Given the description of an element on the screen output the (x, y) to click on. 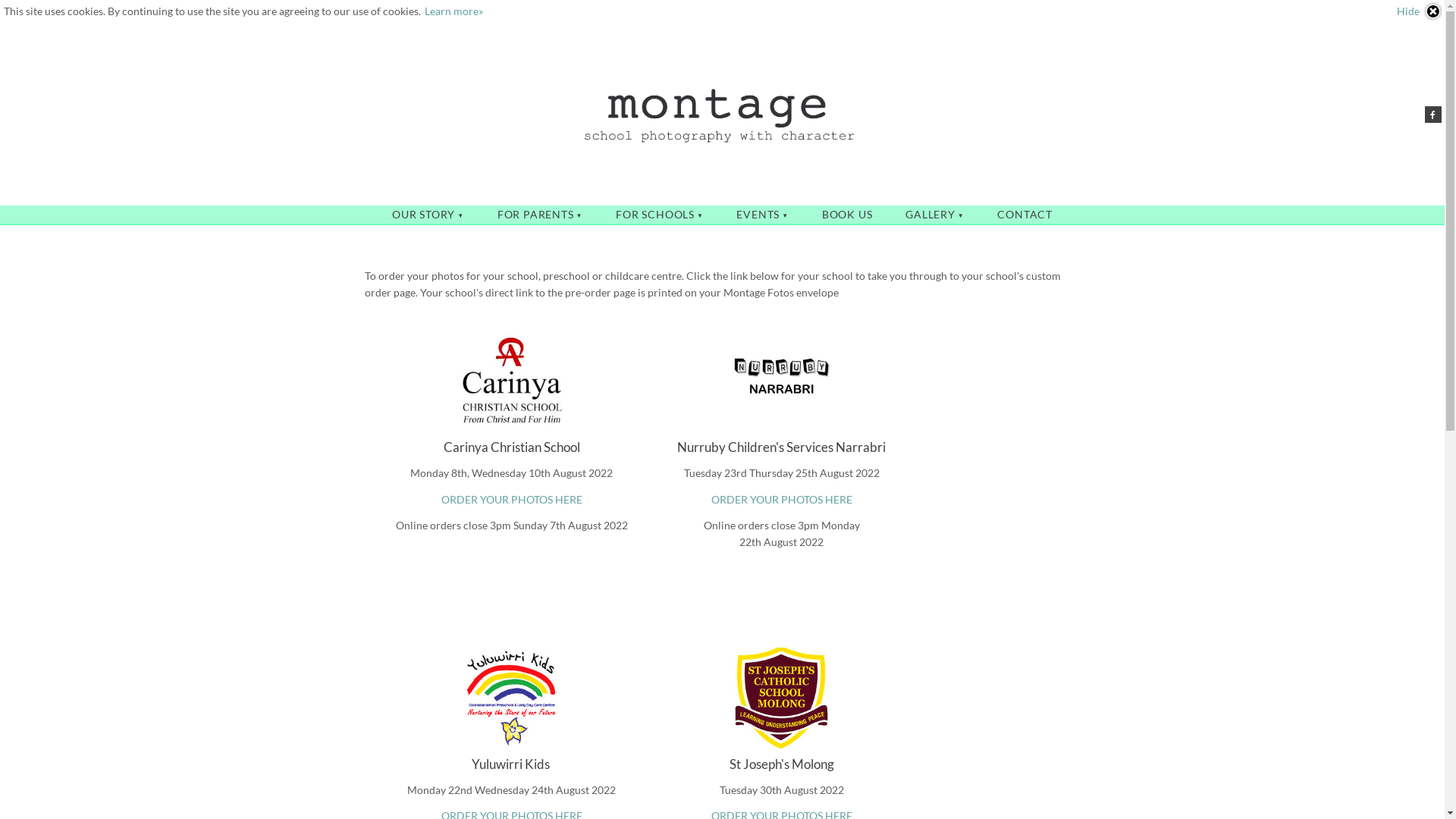
CONTACT Element type: text (1024, 213)
ORDER YOUR PHOTOS HERE Element type: text (511, 498)
ORDER YOUR PHOTOS HERE Element type: text (781, 498)
Montage Fotos Element type: hover (722, 114)
Hide Element type: text (1419, 11)
BOOK US Element type: text (847, 213)
